Given the description of an element on the screen output the (x, y) to click on. 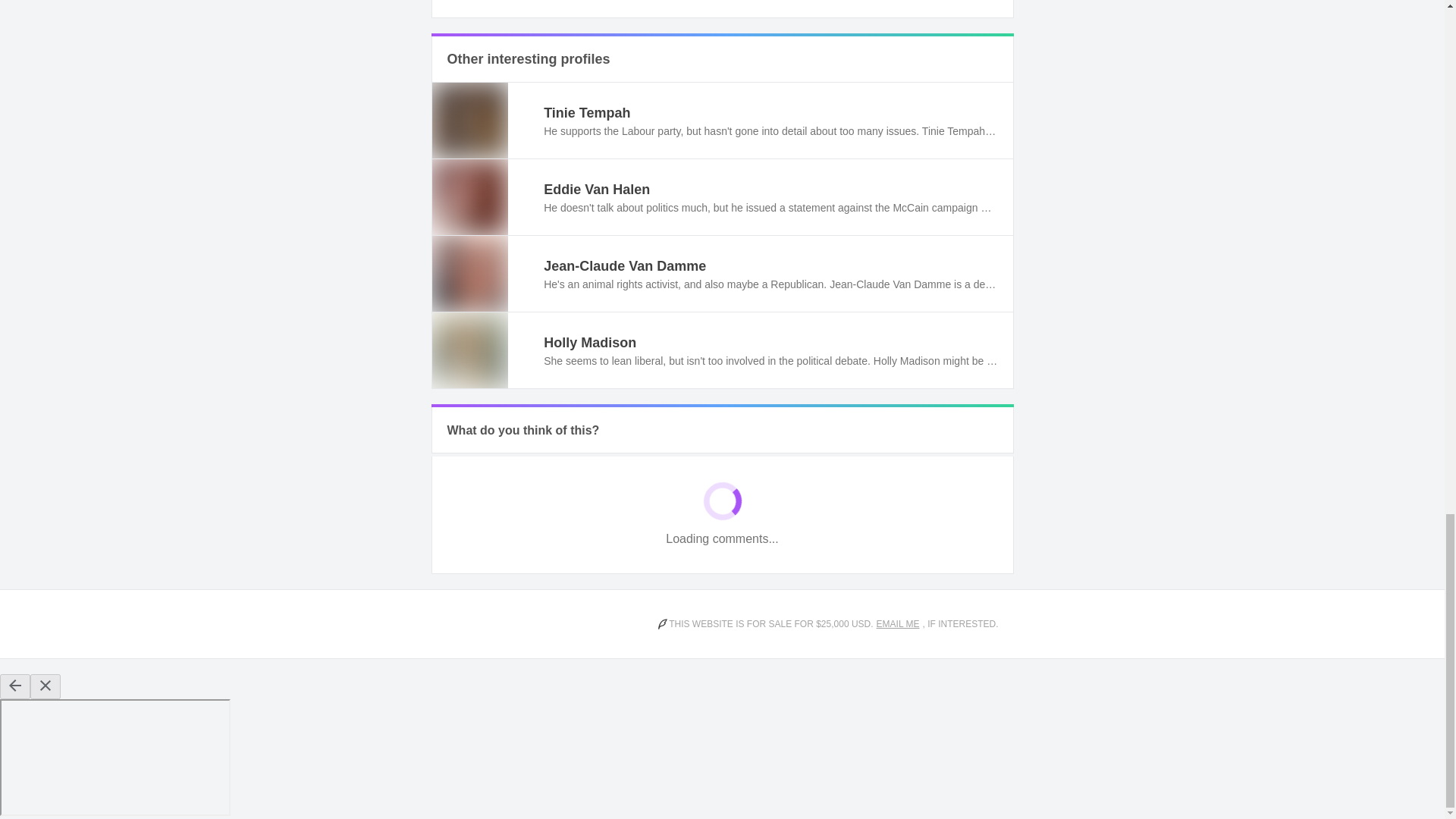
EMAIL ME (898, 624)
